Given the description of an element on the screen output the (x, y) to click on. 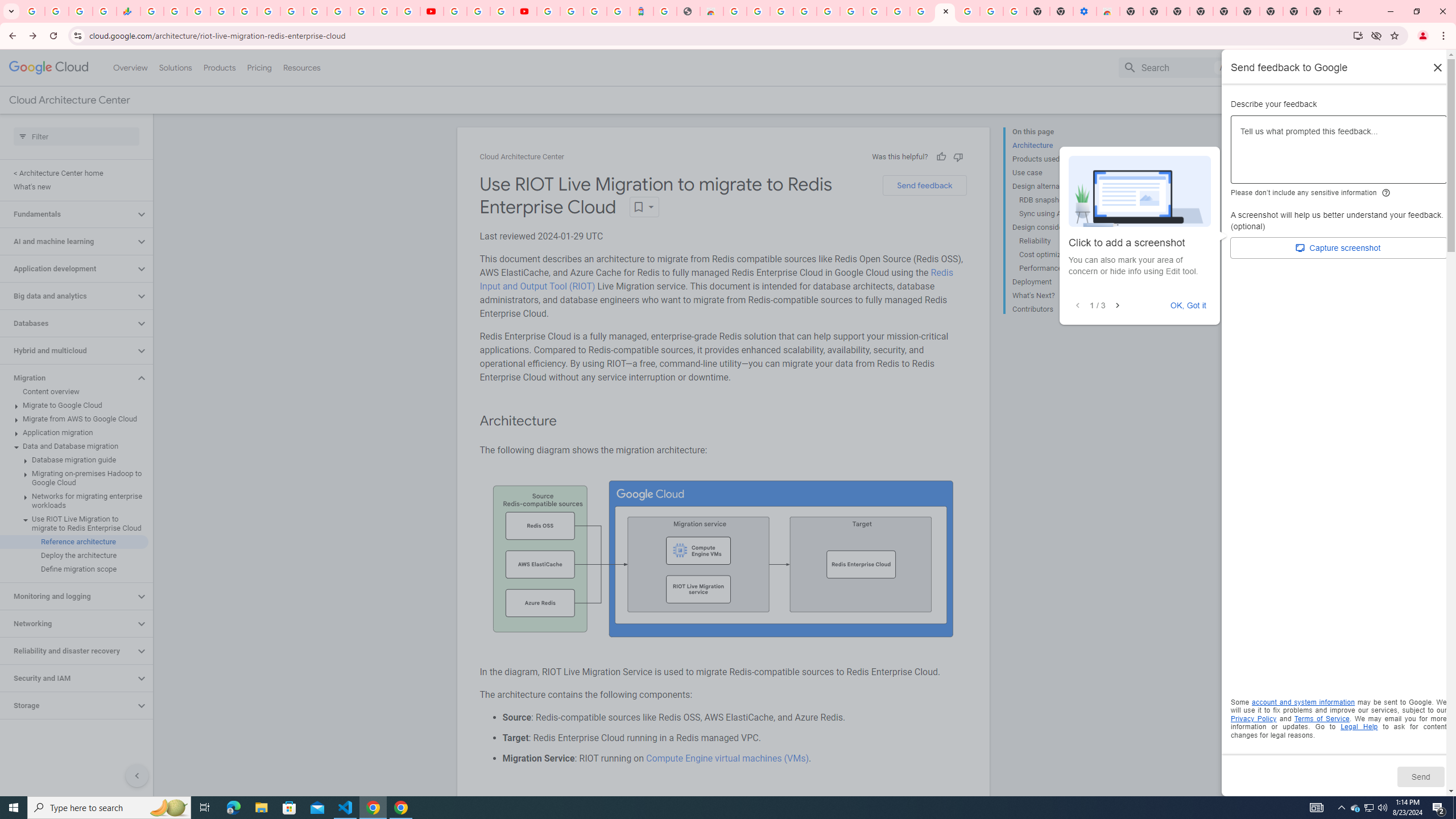
Use RIOT Live Migration to migrate to Redis Enterprise Cloud (74, 523)
Create your Google Account (501, 11)
Security and IAM (67, 678)
What's new (74, 187)
account and system information (1303, 702)
Copy link to this section: Architecture (567, 421)
New Tab (1131, 11)
Fundamentals (67, 214)
Create your Google Account (897, 11)
Hybrid and multicloud (67, 350)
